Given the description of an element on the screen output the (x, y) to click on. 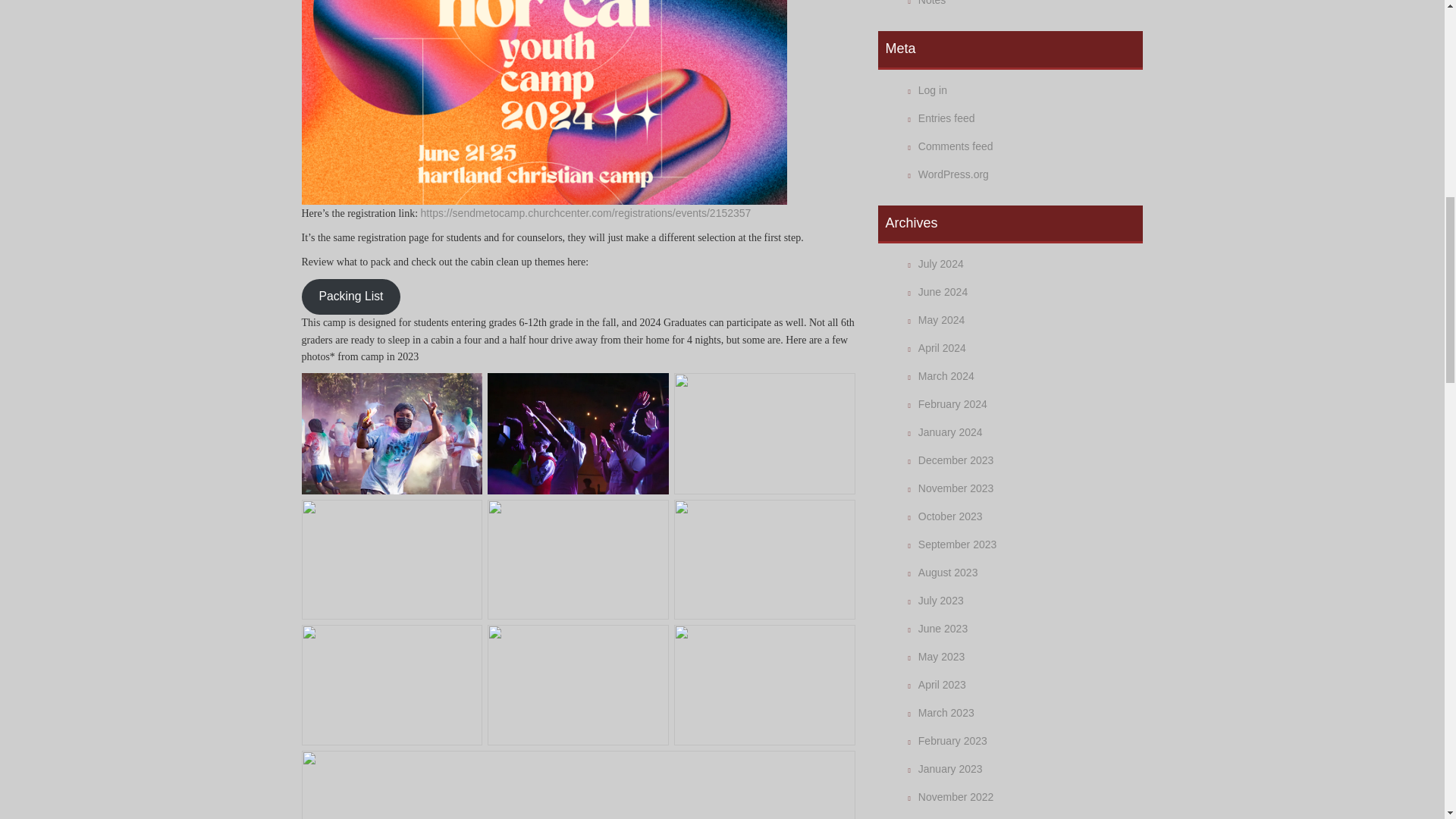
Log in (932, 90)
June 2024 (943, 291)
July 2024 (940, 263)
June 2023 (943, 628)
WordPress.org (953, 174)
Entries feed (946, 118)
July 2023 (940, 600)
Comments feed (955, 146)
Notes (932, 2)
April 2024 (942, 347)
September 2023 (957, 544)
November 2023 (956, 488)
May 2024 (940, 319)
October 2023 (950, 516)
December 2023 (956, 460)
